Given the description of an element on the screen output the (x, y) to click on. 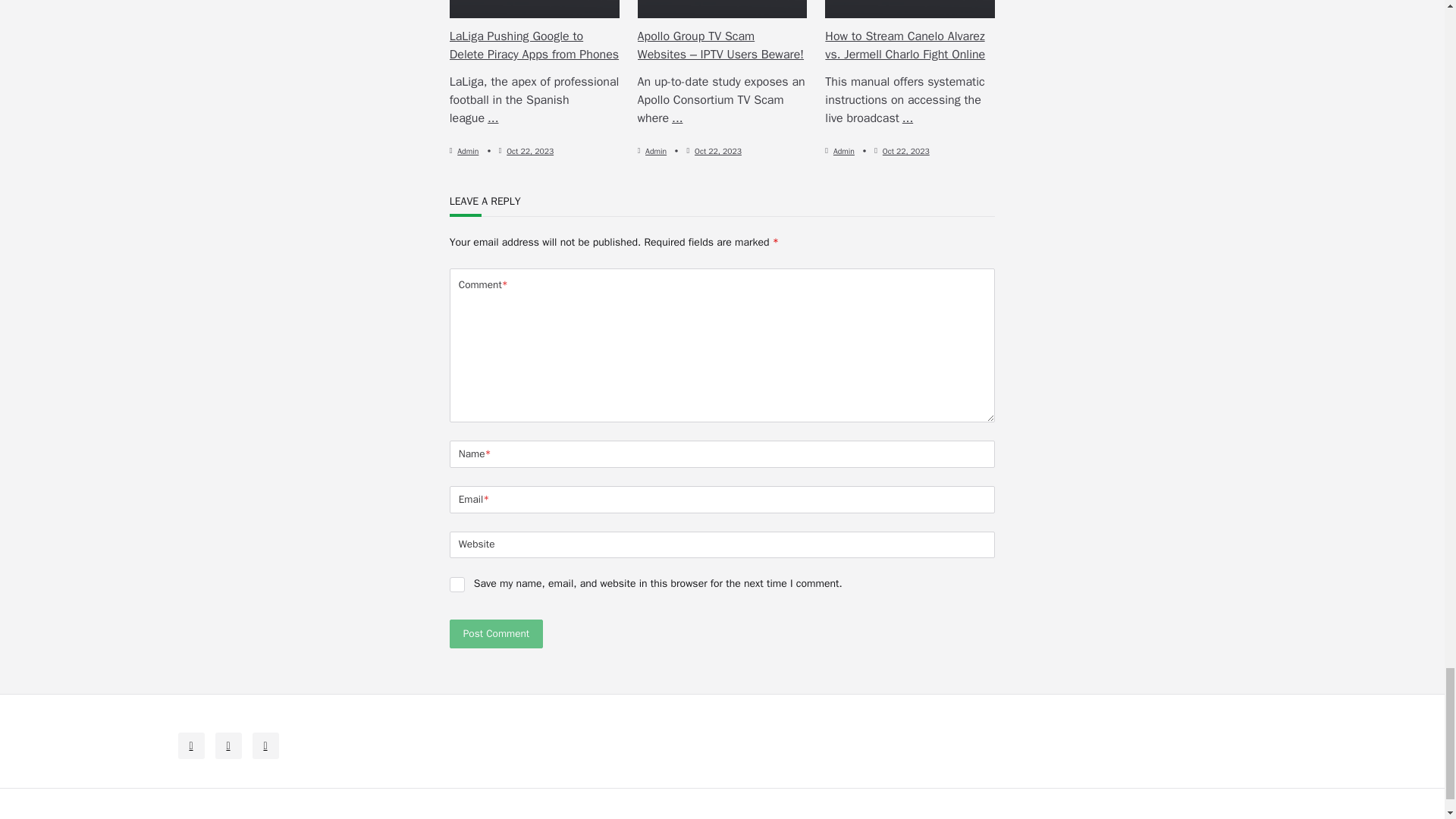
Post Comment (496, 634)
yes (456, 584)
